Given the description of an element on the screen output the (x, y) to click on. 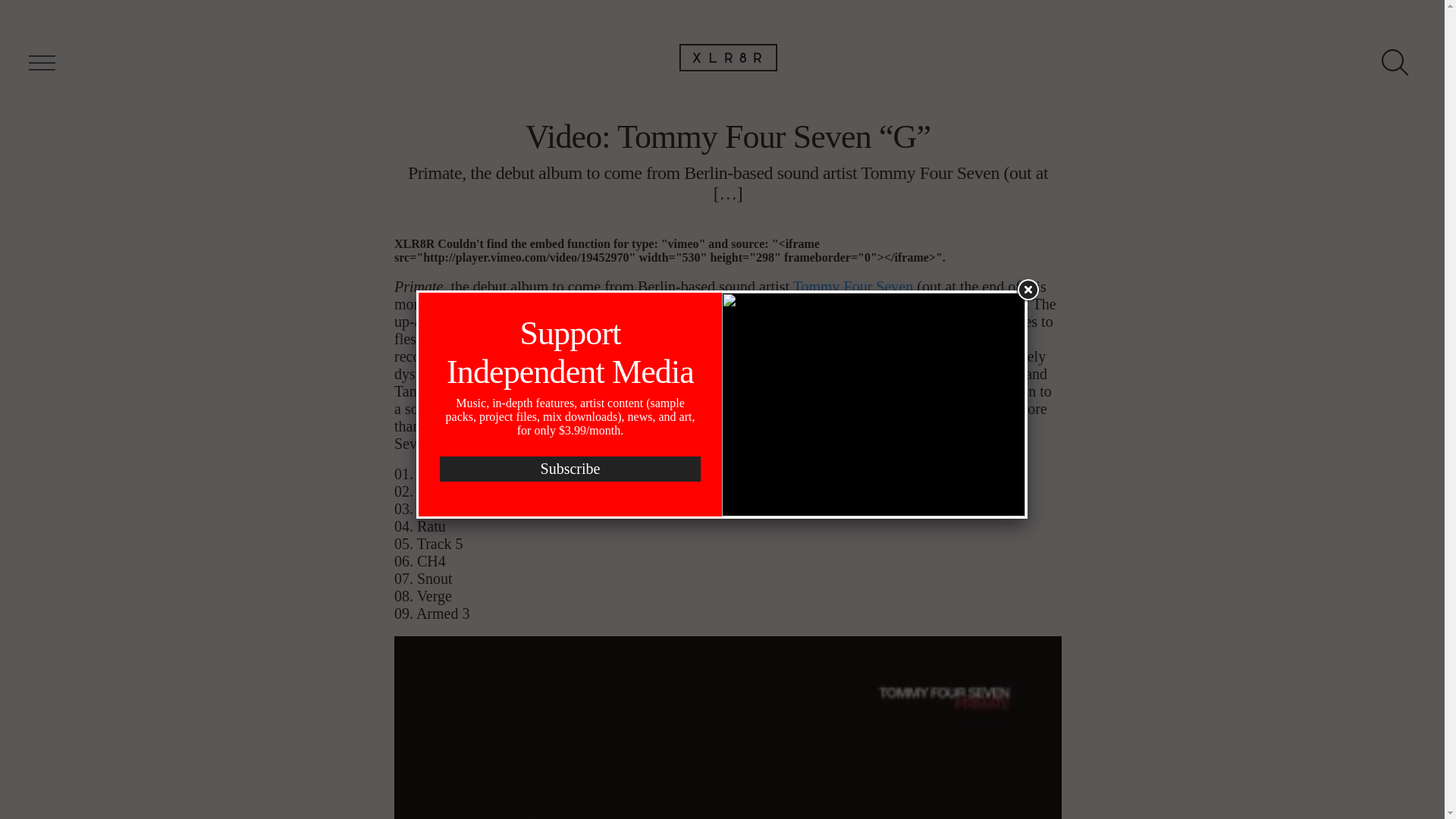
The Automatic Message (610, 391)
Search (38, 21)
Tommy Four Seven (853, 286)
CLR (474, 303)
Subscribe (569, 475)
Close (1027, 289)
